Given the description of an element on the screen output the (x, y) to click on. 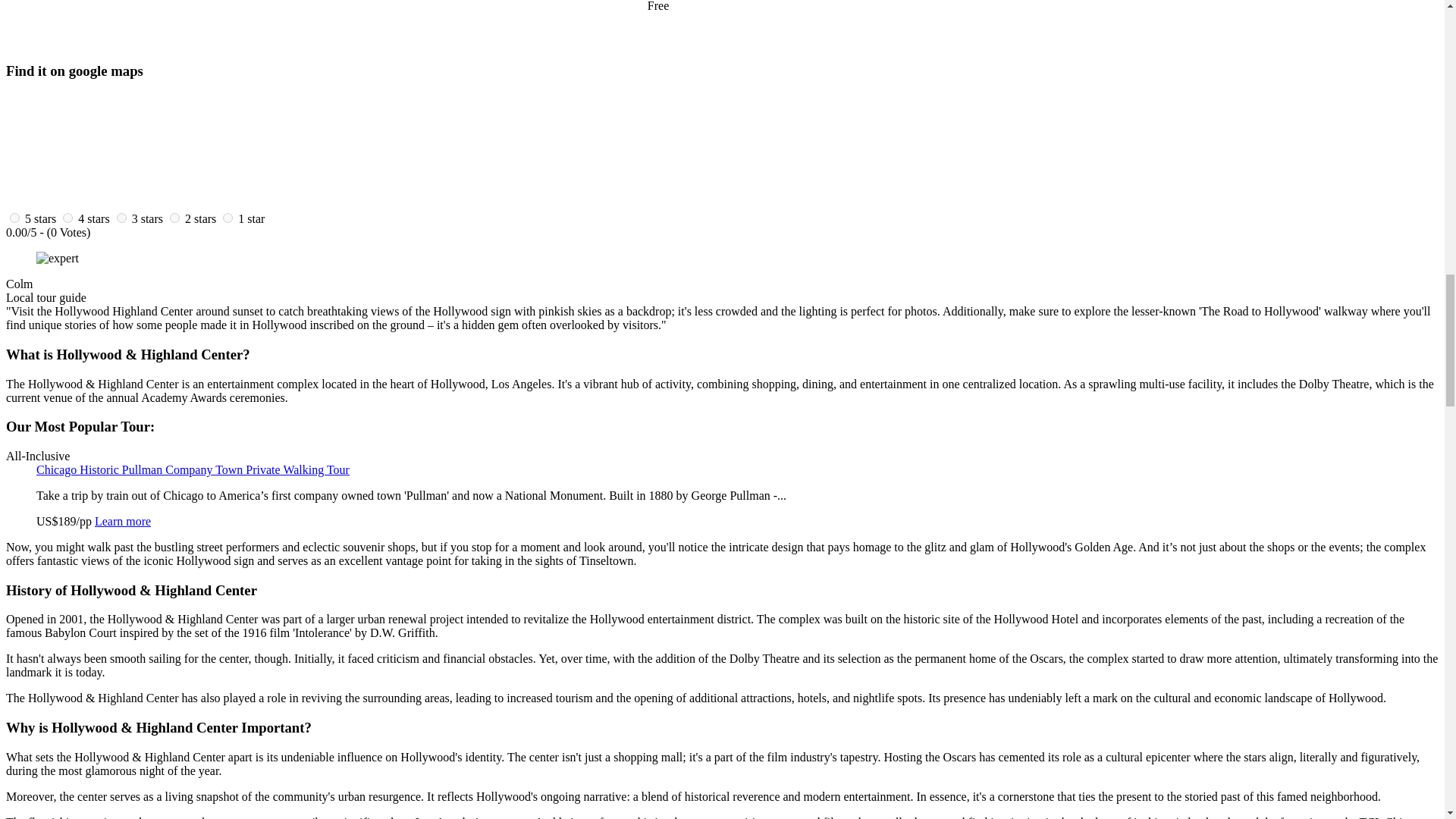
4 (67, 217)
3 stars (147, 218)
2 stars (199, 218)
4 stars (93, 218)
1 (227, 217)
2 (174, 217)
5 stars (40, 218)
1 stars (251, 218)
5 (15, 217)
3 (121, 217)
